Given the description of an element on the screen output the (x, y) to click on. 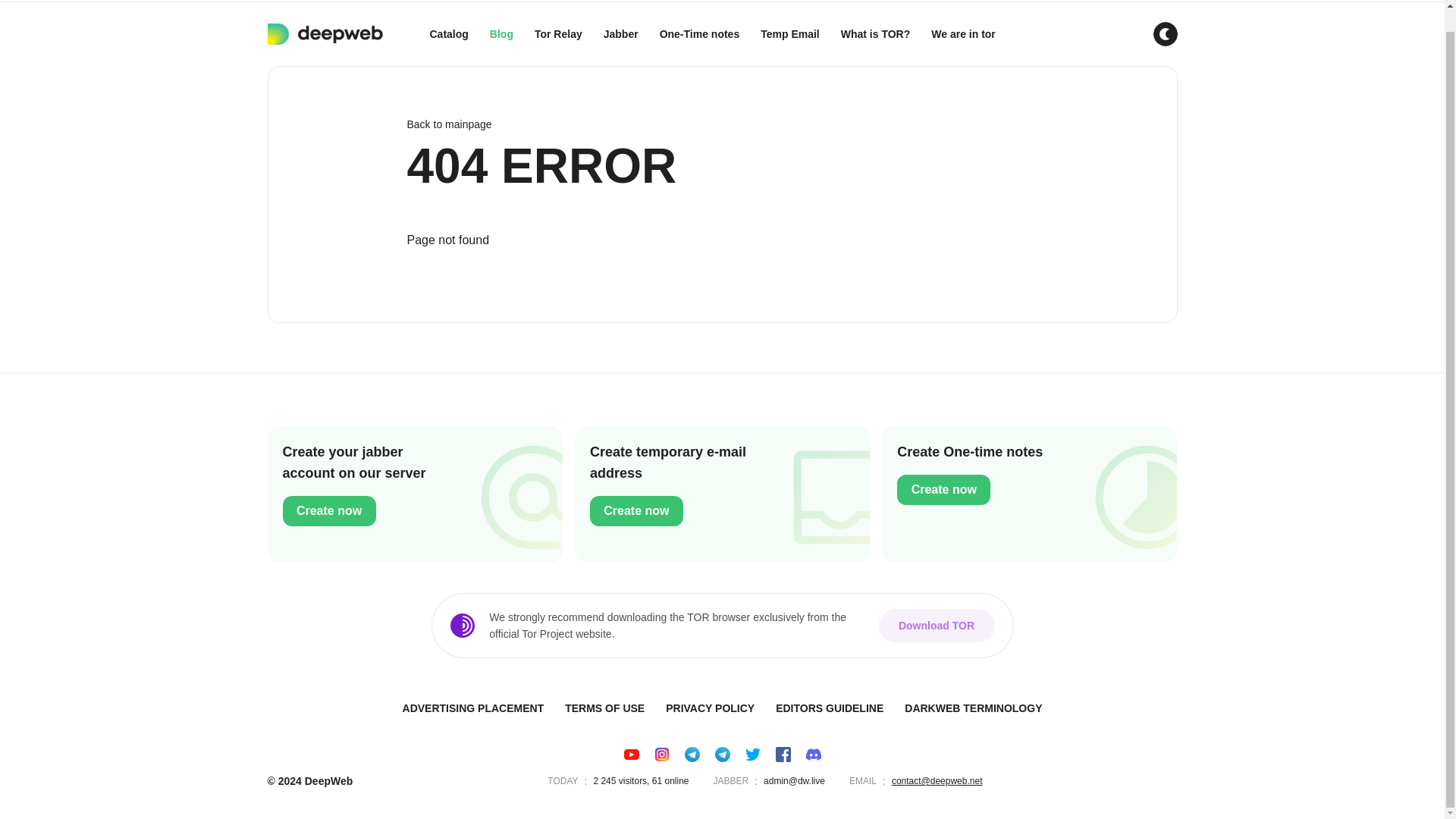
Jabber (620, 34)
Temp Email (789, 34)
Create now (328, 511)
Download TOR (935, 625)
YouTube (631, 754)
What is TOR? (875, 34)
Facebook (782, 754)
DARKWEB TERMINOLOGY (972, 708)
Tor Relay (558, 34)
Back to mainpage (721, 124)
